Given the description of an element on the screen output the (x, y) to click on. 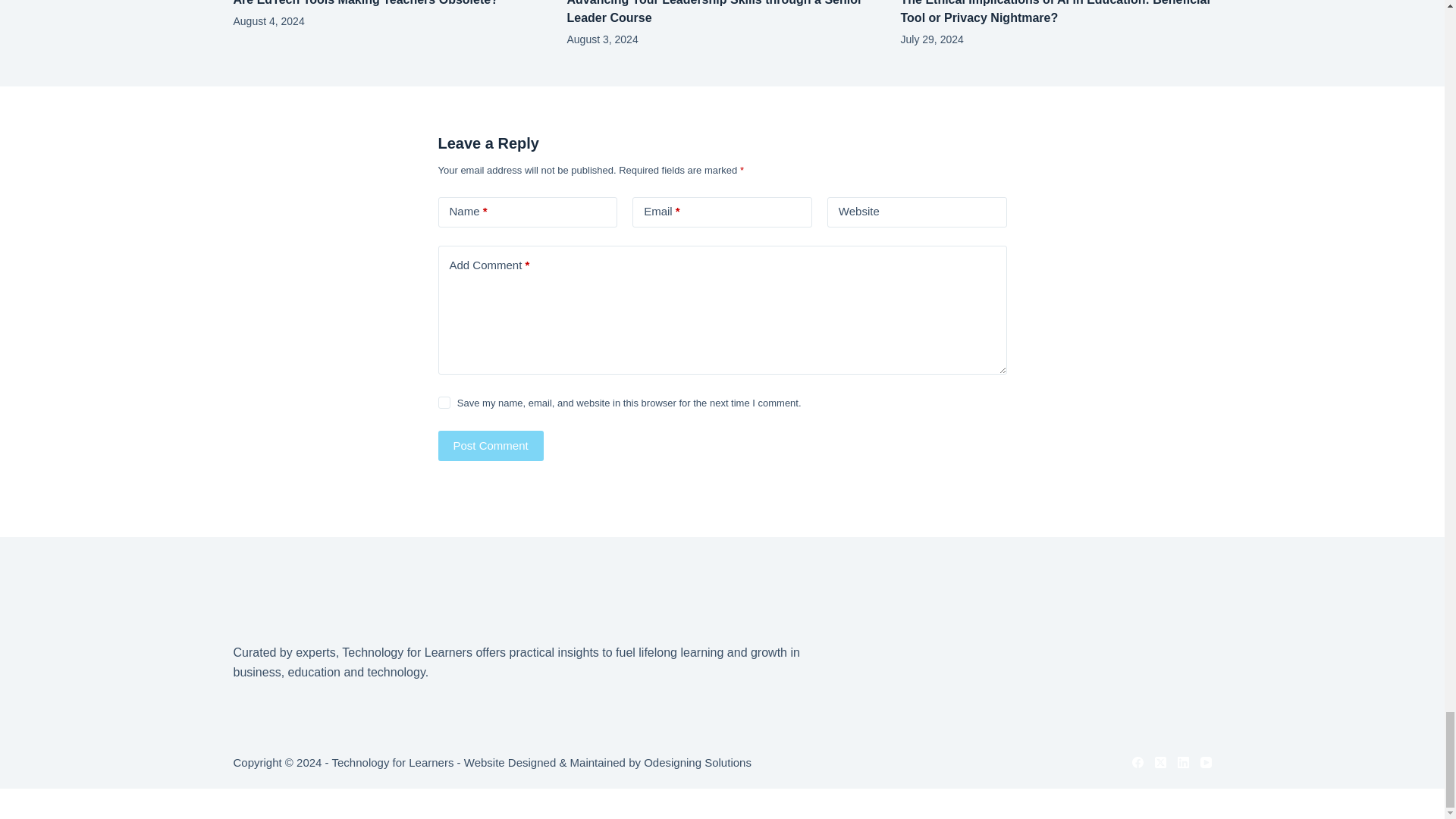
yes (443, 402)
